Given the description of an element on the screen output the (x, y) to click on. 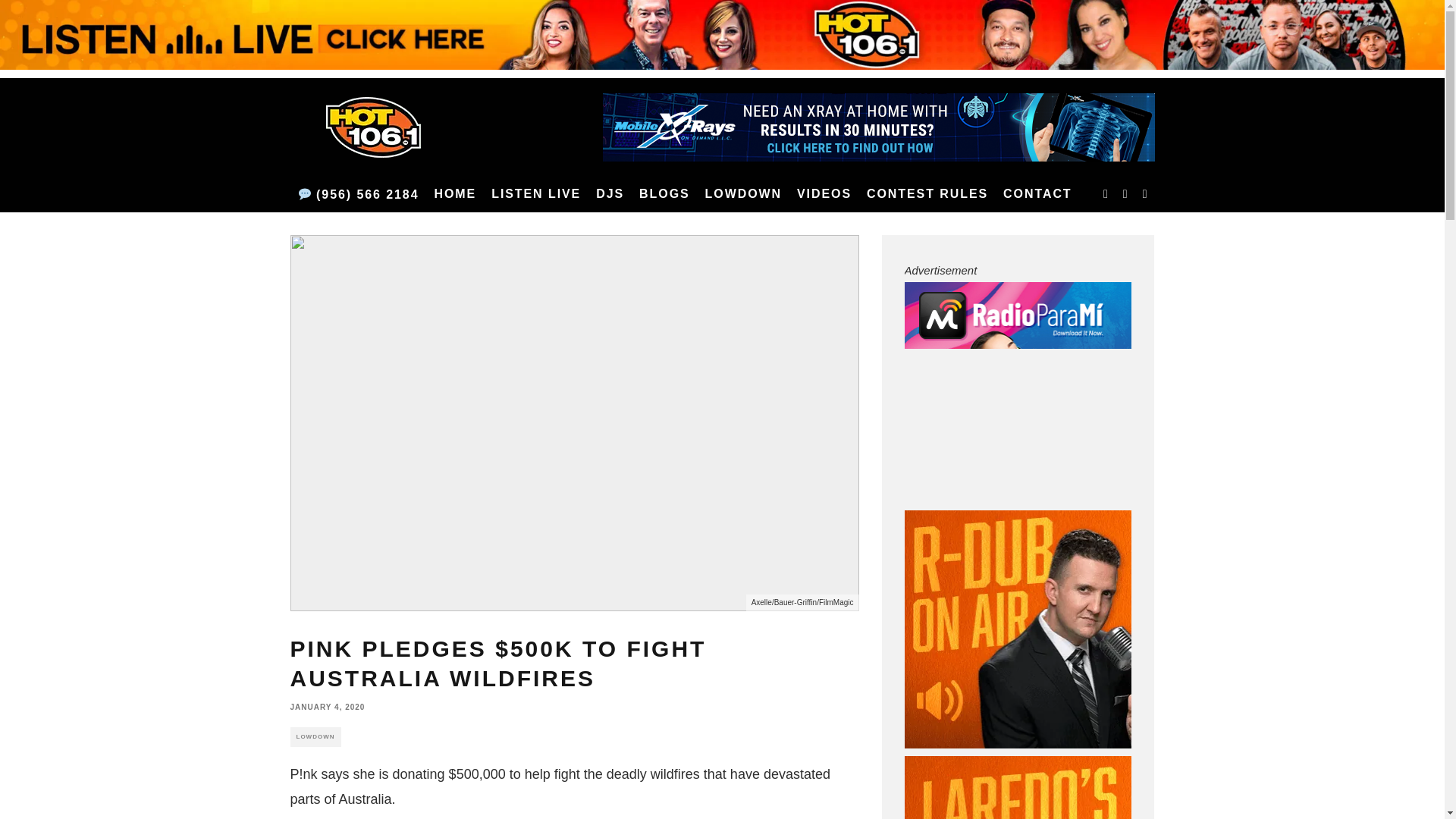
VIDEOS (824, 193)
DJS (609, 193)
LOWDOWN (743, 193)
HOME (454, 193)
CONTEST RULES (927, 193)
LISTEN LIVE (535, 193)
BLOGS (664, 193)
